Given the description of an element on the screen output the (x, y) to click on. 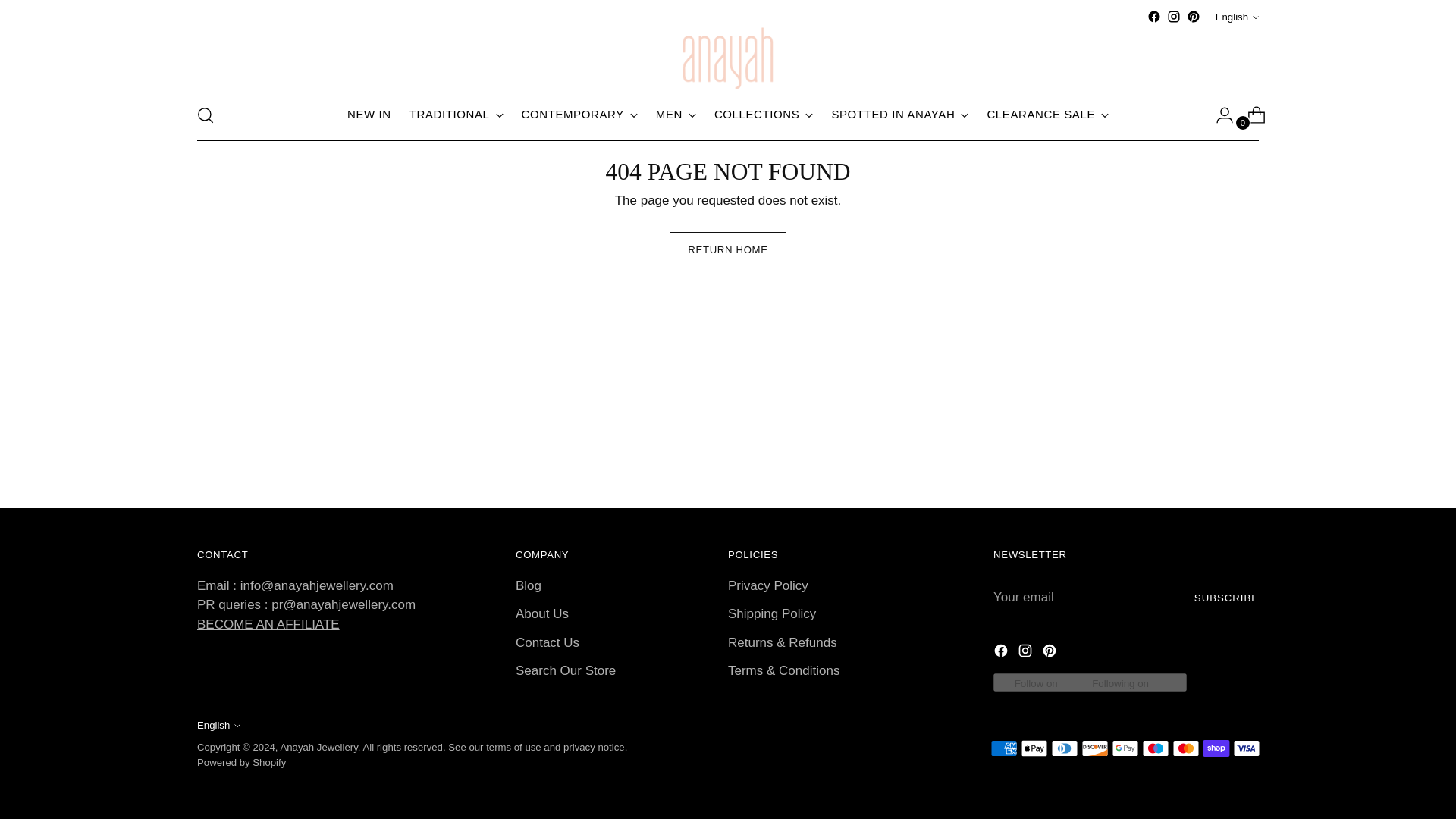
NEW IN (369, 114)
English (1237, 16)
Anayah Jewellery on Pinterest (1192, 16)
Anayah Jewellery on Instagram (1173, 16)
CONTEMPORARY (579, 114)
TRADITIONAL (456, 114)
Anayah Jewellery on Facebook (1153, 16)
